Given the description of an element on the screen output the (x, y) to click on. 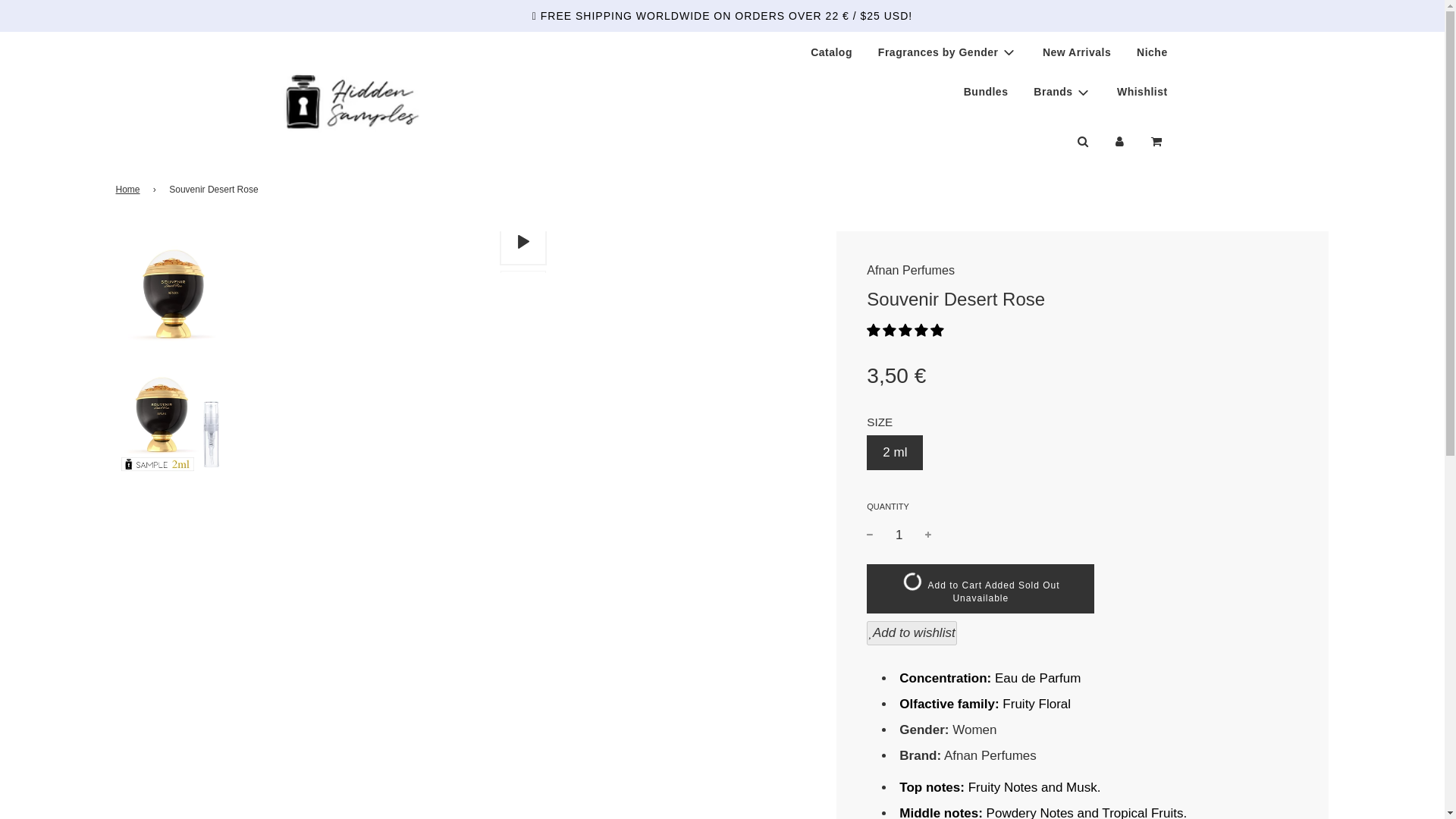
Fragrances by Gender (946, 51)
Log in (1119, 140)
Back to the frontpage (129, 189)
1 (898, 534)
Afnan Perfumes (910, 269)
Catalog (831, 52)
